Given the description of an element on the screen output the (x, y) to click on. 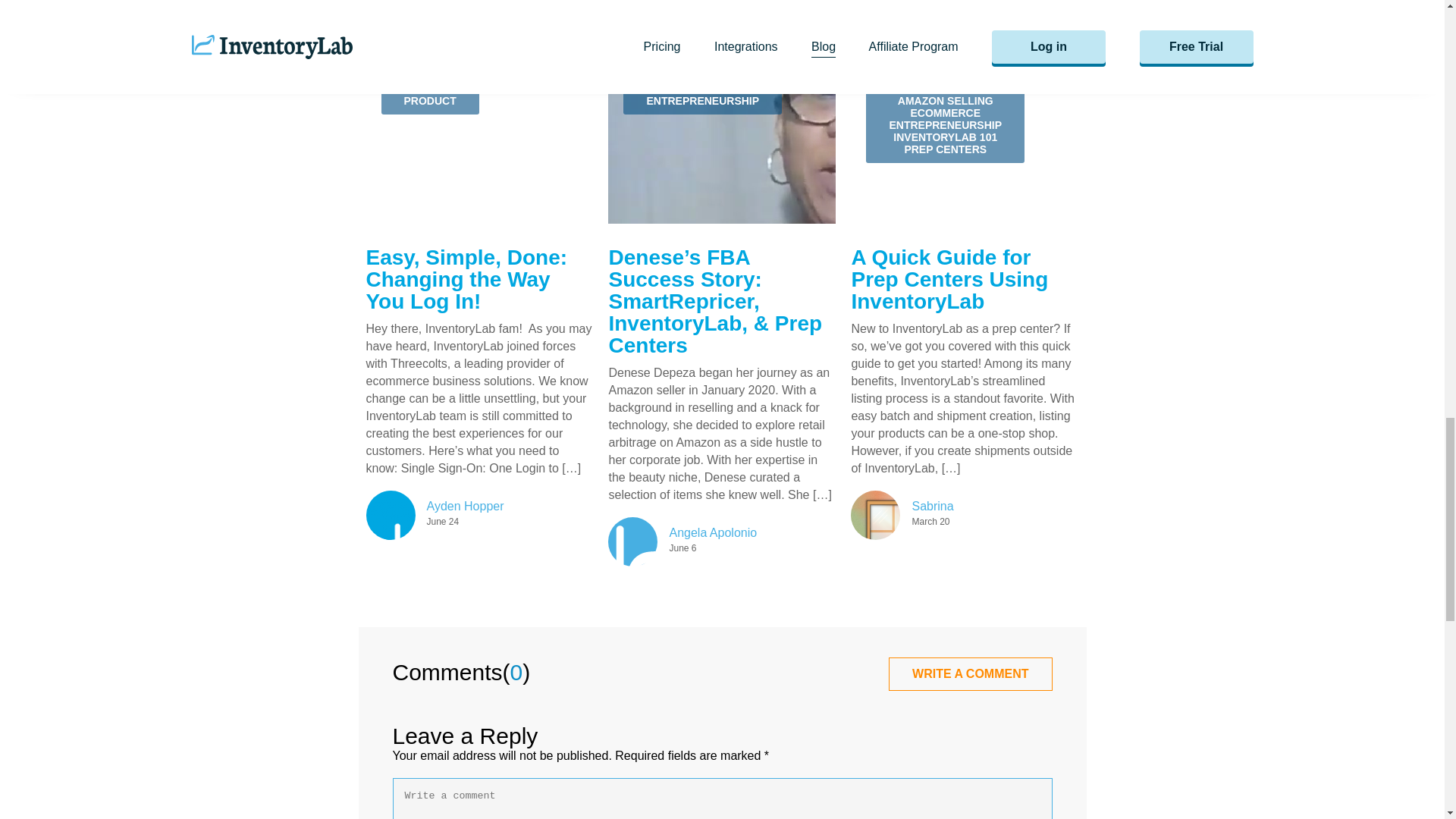
AMAZON SELLING (945, 101)
ENTREPRENEURSHIP (944, 124)
ENTREPRENEURSHIP (702, 101)
Easy, Simple, Done: Changing the Way You Log In!  (466, 278)
INVENTORYLAB 101 (945, 137)
ECOMMERCE (944, 112)
PRODUCT (429, 101)
